Given the description of an element on the screen output the (x, y) to click on. 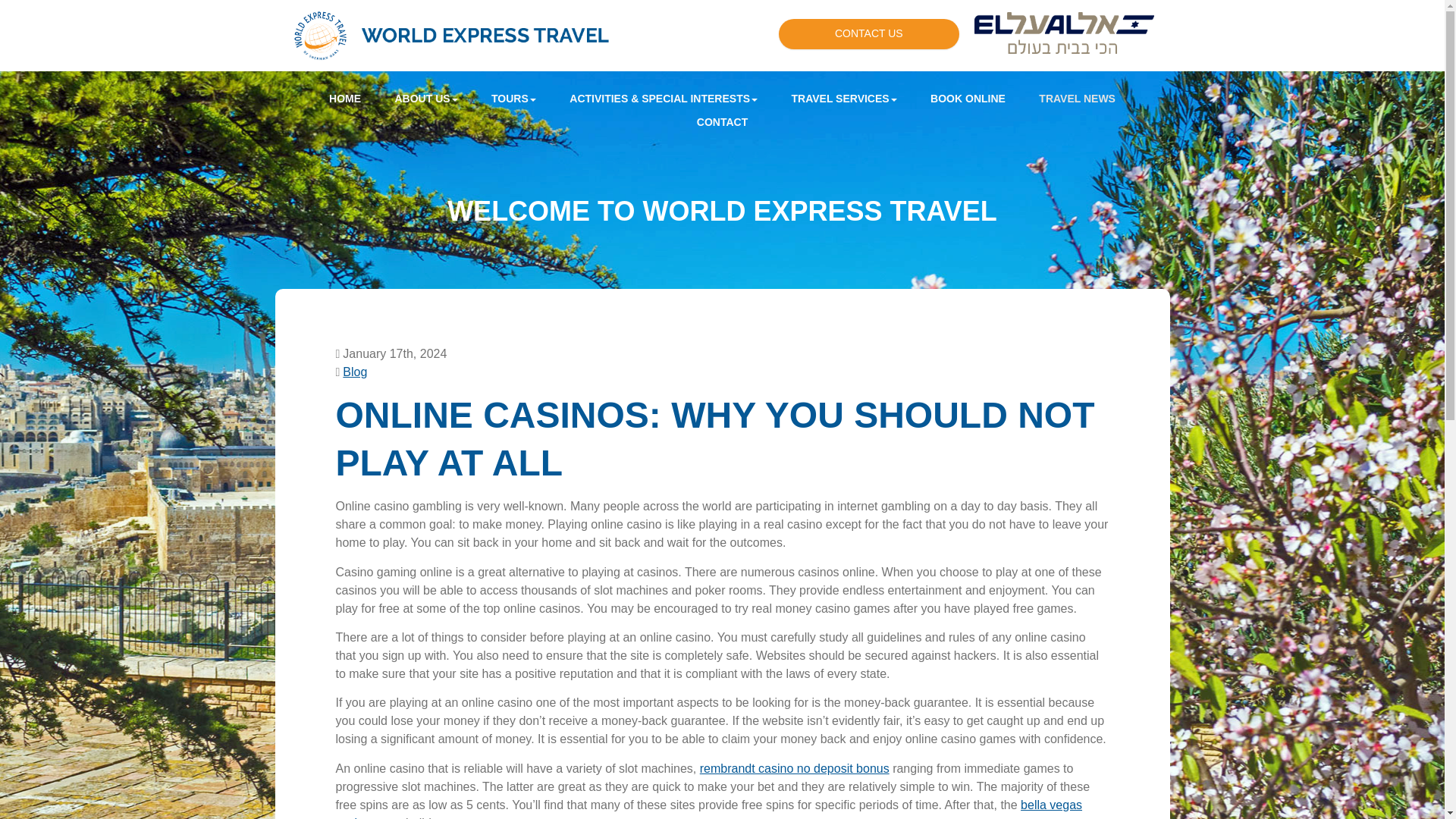
BOOK ONLINE (967, 98)
ABOUT US (424, 98)
HOME (344, 98)
TRAVEL NEWS (1077, 98)
Date Published (390, 353)
CONTACT (721, 122)
TOURS (513, 98)
CONTACT US (868, 33)
TRAVEL SERVICES (844, 98)
